Given the description of an element on the screen output the (x, y) to click on. 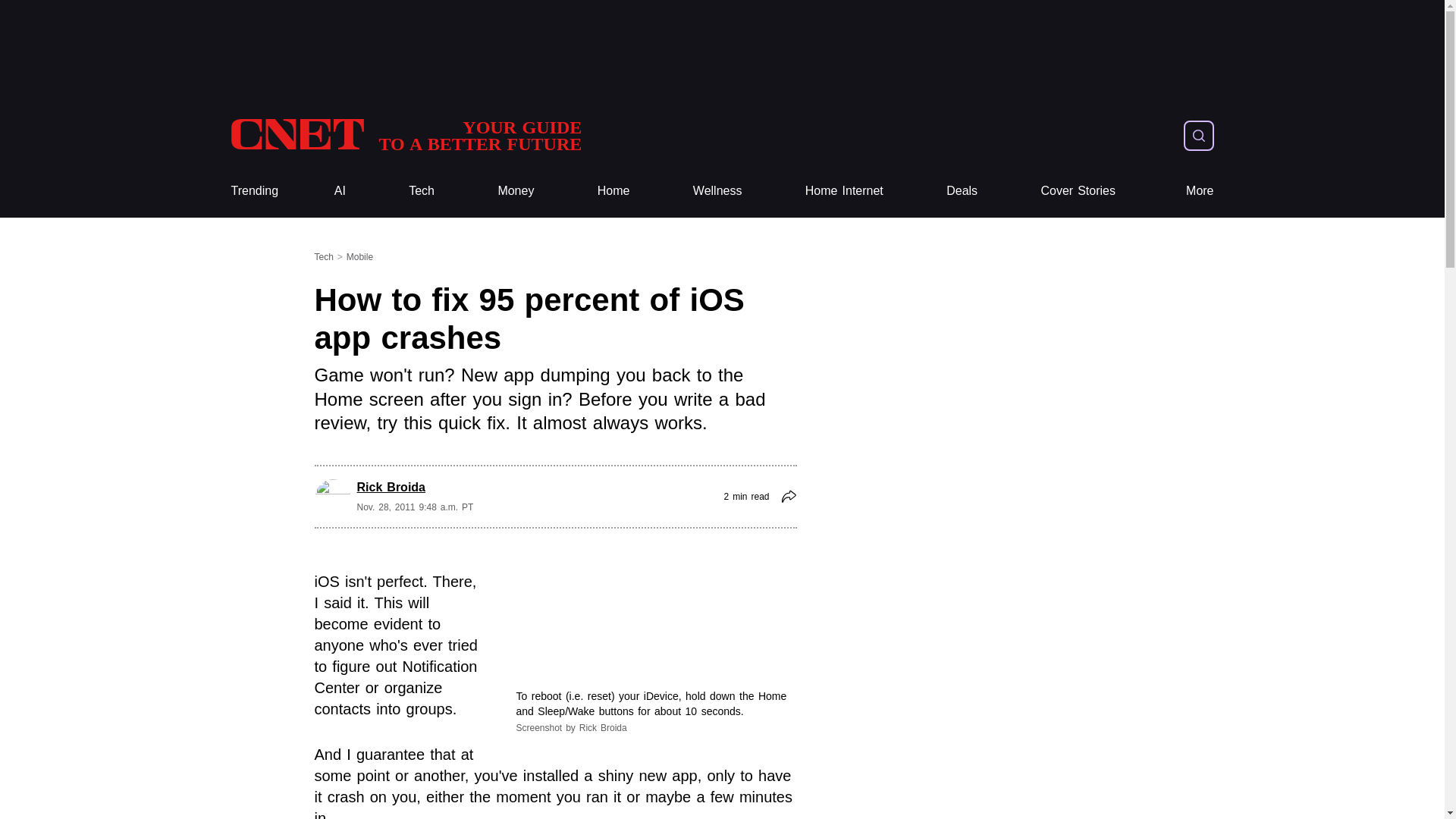
More (1199, 190)
Tech (421, 190)
Home Internet (844, 190)
Money (515, 190)
Deals (961, 190)
CNET (405, 135)
Wellness (717, 190)
Wellness (717, 190)
Money (515, 190)
Home (613, 190)
Cover Stories (1078, 190)
Trending (405, 135)
Home (254, 190)
Tech (613, 190)
